Given the description of an element on the screen output the (x, y) to click on. 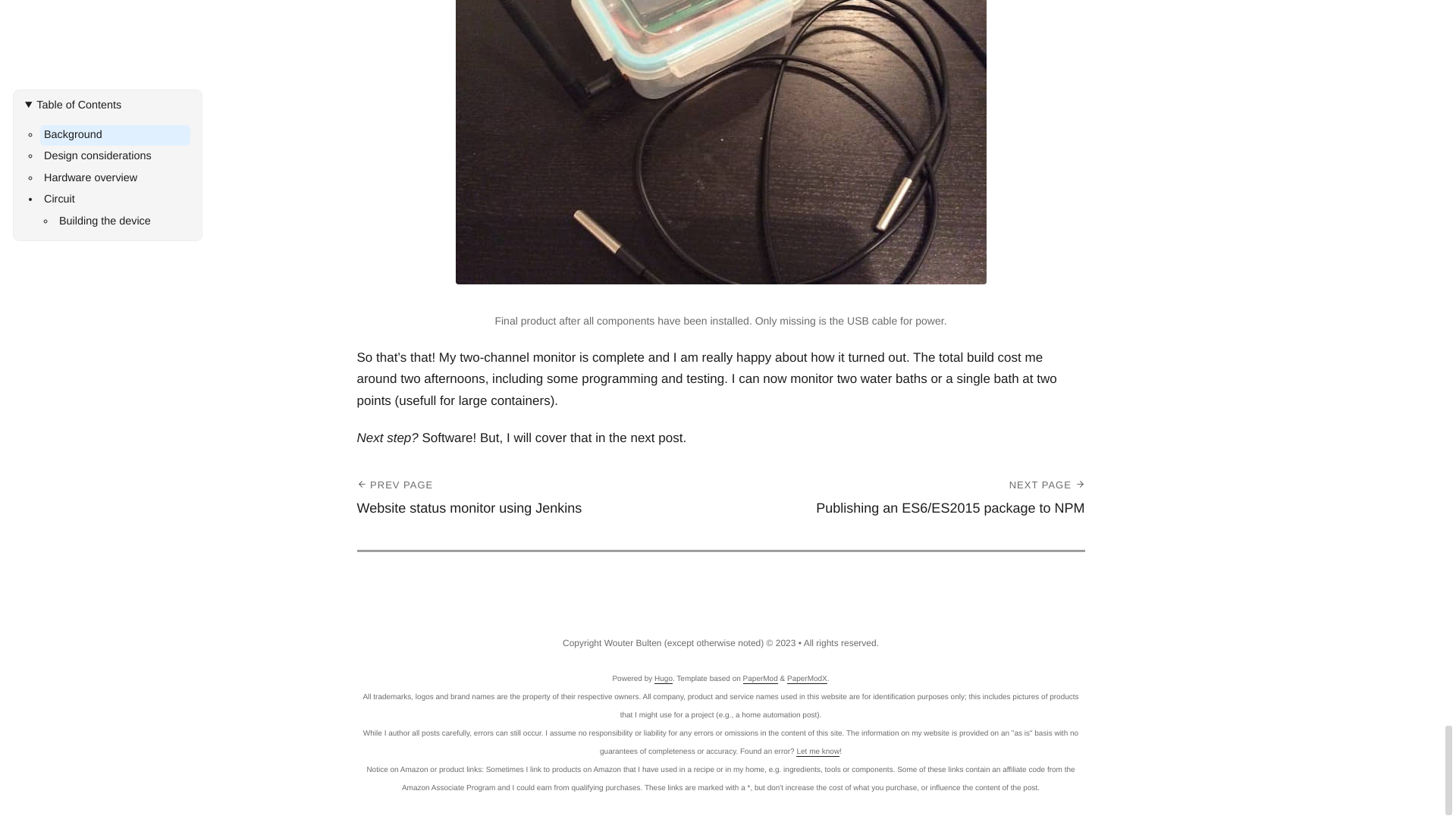
Let me know (538, 495)
PaperMod (818, 751)
PaperModX (759, 678)
Hugo (807, 678)
